Given the description of an element on the screen output the (x, y) to click on. 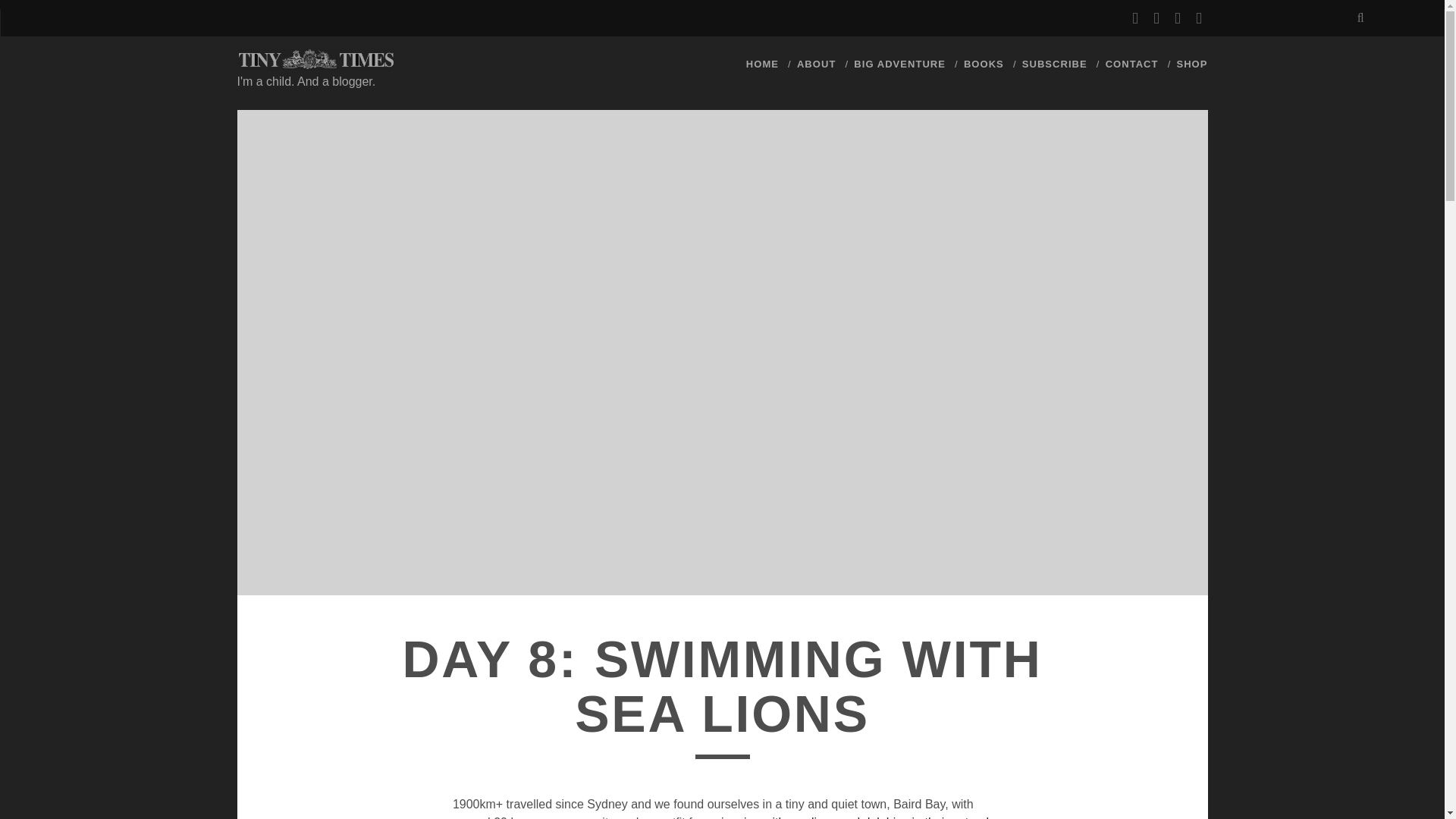
BIG ADVENTURE (898, 64)
HOME (761, 64)
SHOP (1191, 64)
SUBSCRIBE (1054, 64)
CONTACT (1131, 64)
ABOUT (815, 64)
BOOKS (983, 64)
